Given the description of an element on the screen output the (x, y) to click on. 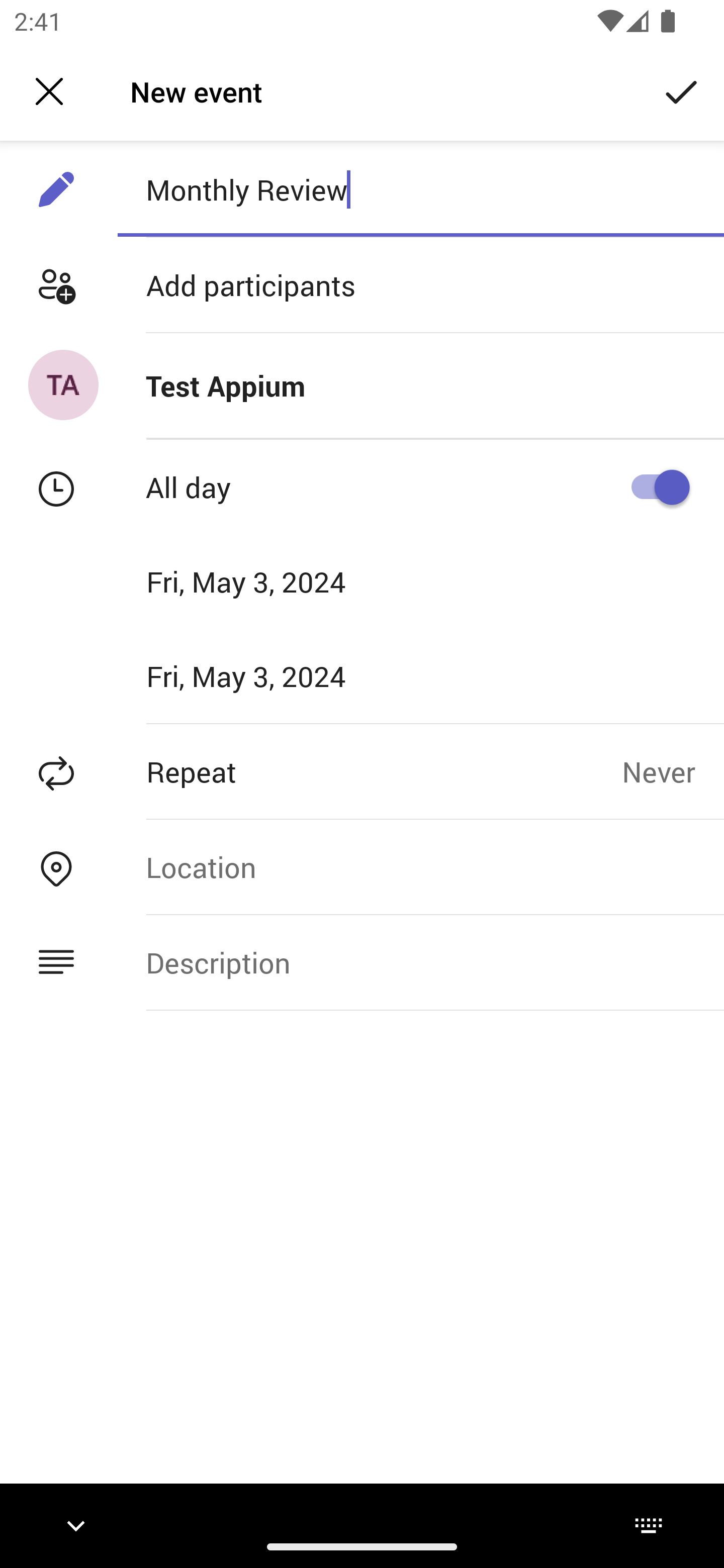
Back (49, 91)
Send invite (681, 90)
Monthly Review (420, 189)
Add participants Add participants option (362, 285)
All day (654, 486)
Fri, May 3, 2024 Starts Friday May 03, 2024 (288, 581)
Fri, May 3, 2024 Ends Friday May 03, 2024 (288, 675)
Repeat (310, 771)
Never Repeat Never (672, 771)
Location (420, 867)
Description (420, 962)
